Given the description of an element on the screen output the (x, y) to click on. 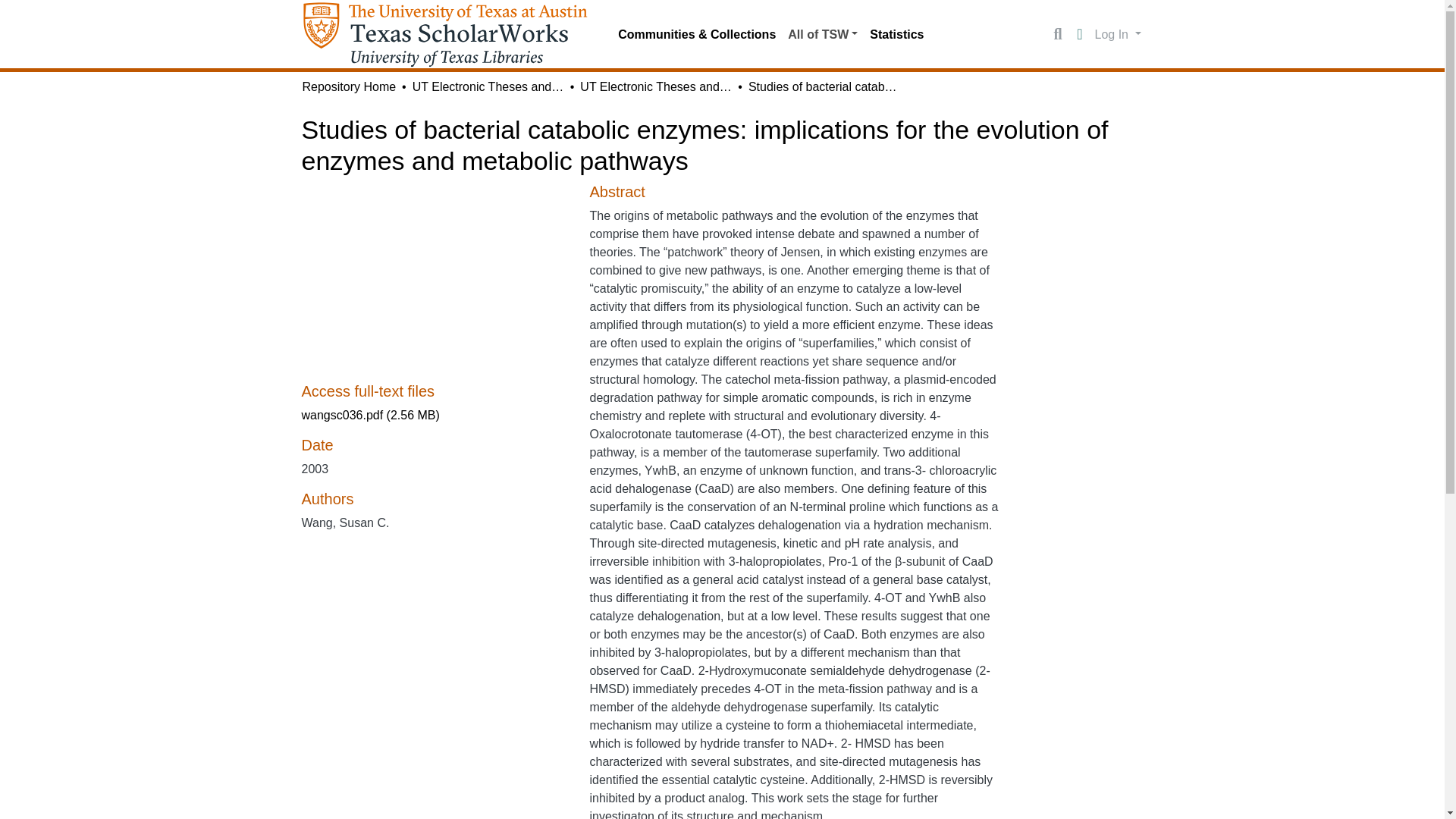
UT Electronic Theses and Dissertations (655, 86)
Statistics (896, 34)
Search (1057, 34)
All of TSW (822, 34)
Log In (1117, 33)
Statistics (896, 34)
UT Electronic Theses and Dissertations (488, 86)
Repository Home (348, 86)
Language switch (1079, 34)
